Given the description of an element on the screen output the (x, y) to click on. 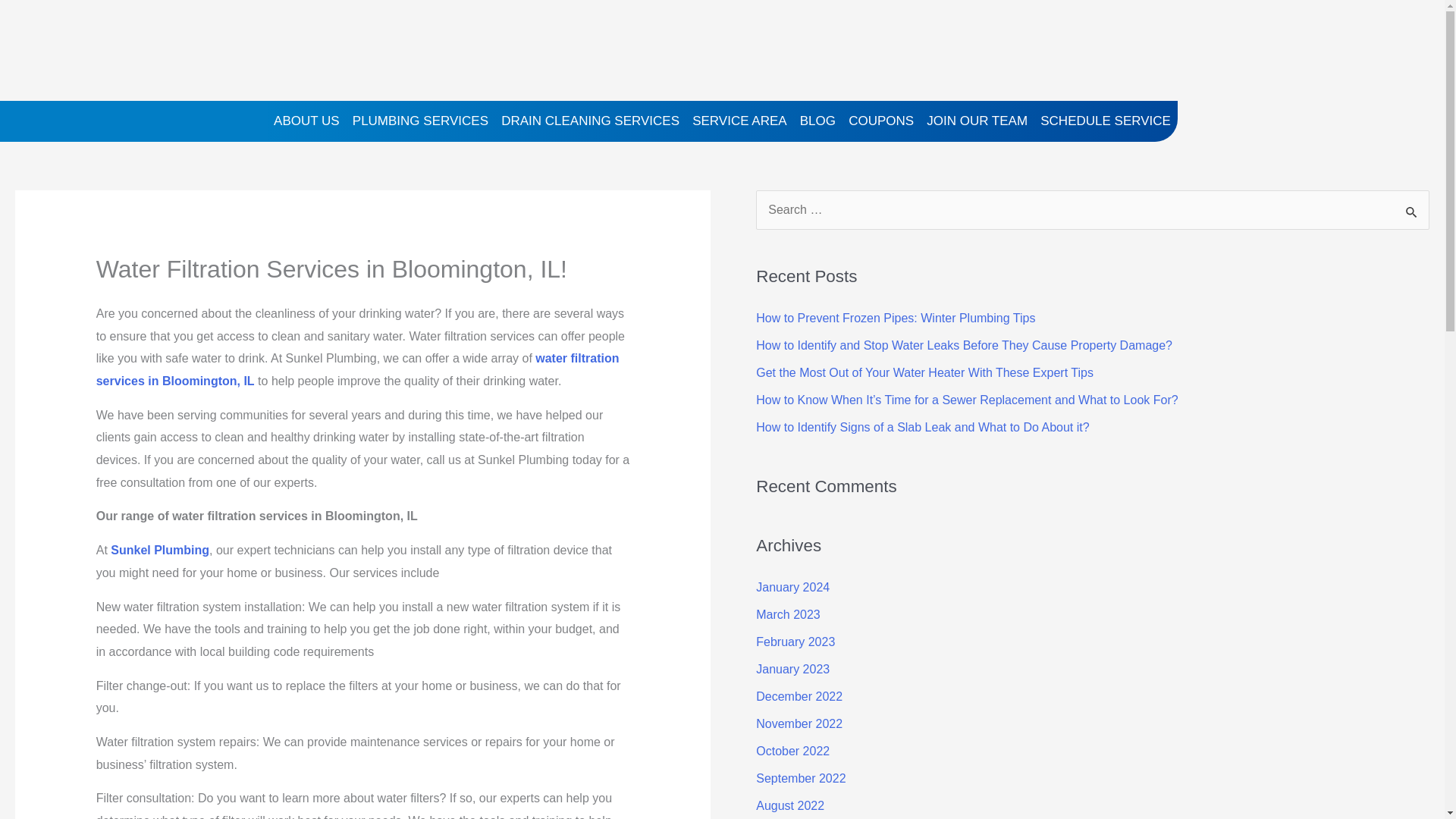
PLUMBING SERVICES (420, 120)
ABOUT US (306, 120)
SERVICE AREA (739, 120)
DRAIN CLEANING SERVICES (590, 120)
